Given the description of an element on the screen output the (x, y) to click on. 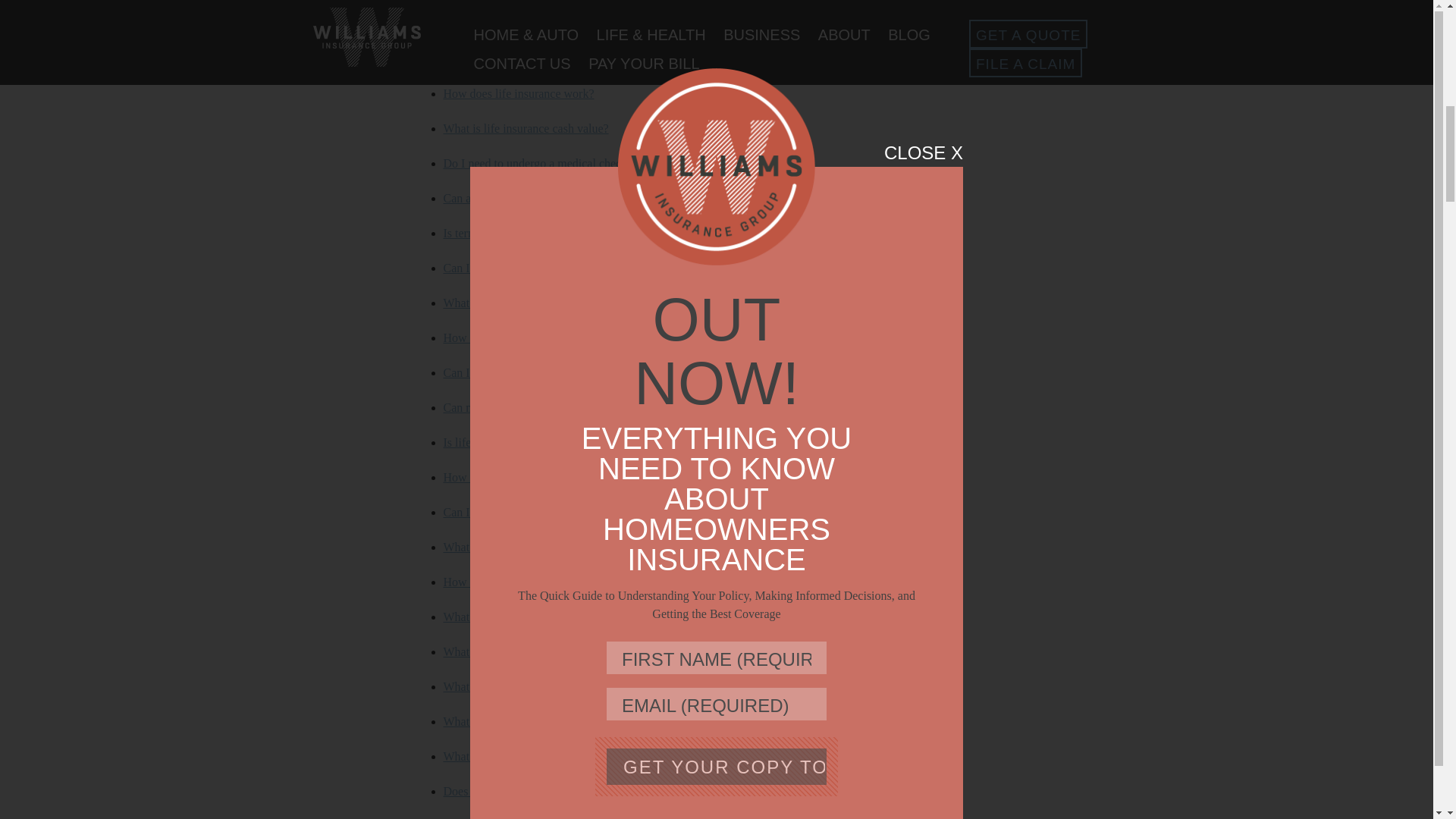
Is life insurance a good investment? (529, 441)
What is a contestability period? (519, 616)
How does life insurance work? (518, 92)
Can my carrier cancel my life insurance policy? (558, 407)
Does being bankrupt make me uninsurable? (549, 790)
Can I be denied life insurance coverage? (541, 372)
What is graded benefit life insurance? (534, 686)
What is a life insurance rider? (515, 721)
How much life insurance do I need? (530, 477)
Can I earn dividends through life insurance? (550, 512)
Can I pay my life insurance policy in advance? (556, 267)
How do I access the life insurance death benefit? (561, 337)
What is life insurance cash value? (525, 128)
